Given the description of an element on the screen output the (x, y) to click on. 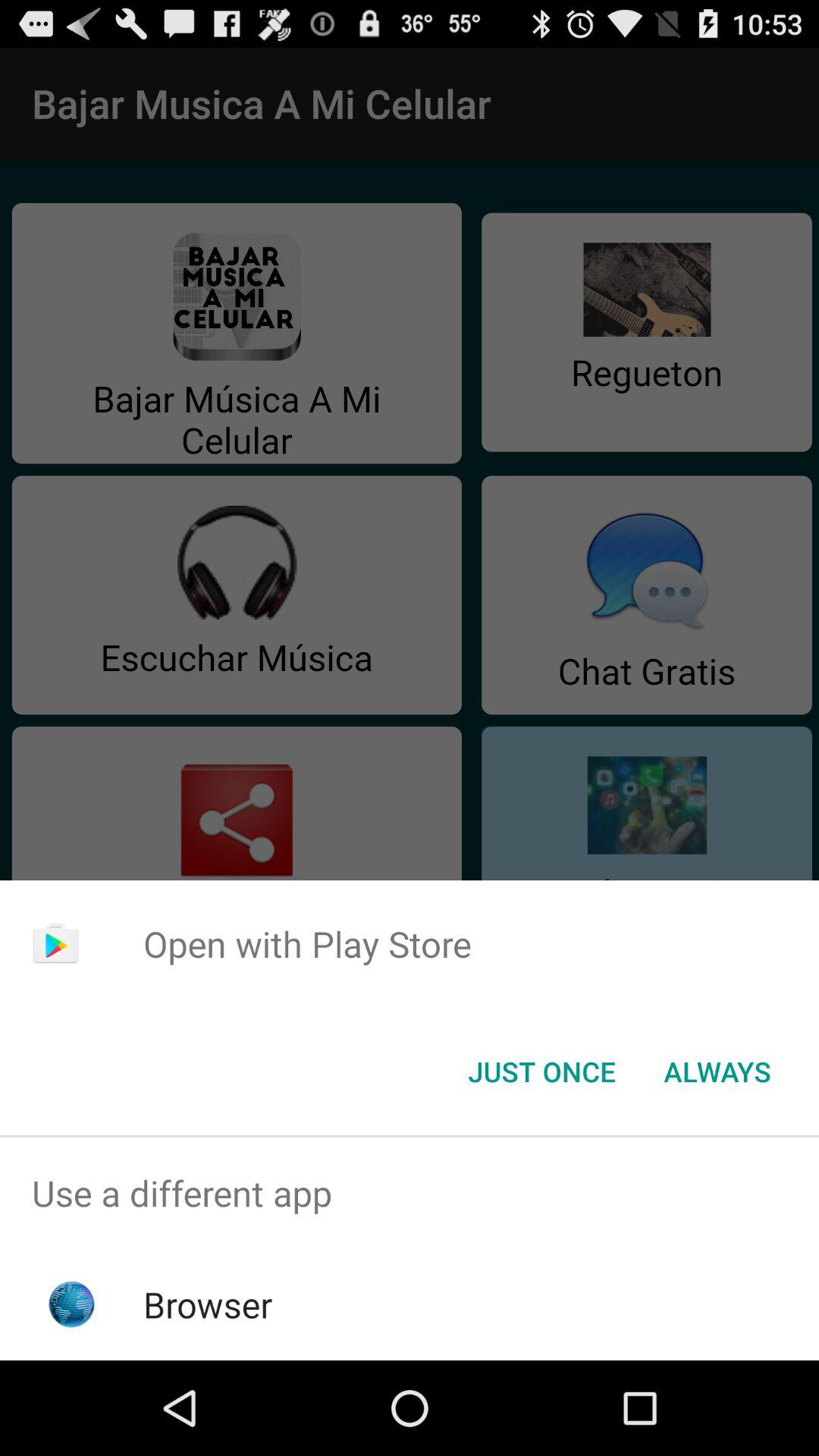
swipe until just once item (541, 1071)
